Given the description of an element on the screen output the (x, y) to click on. 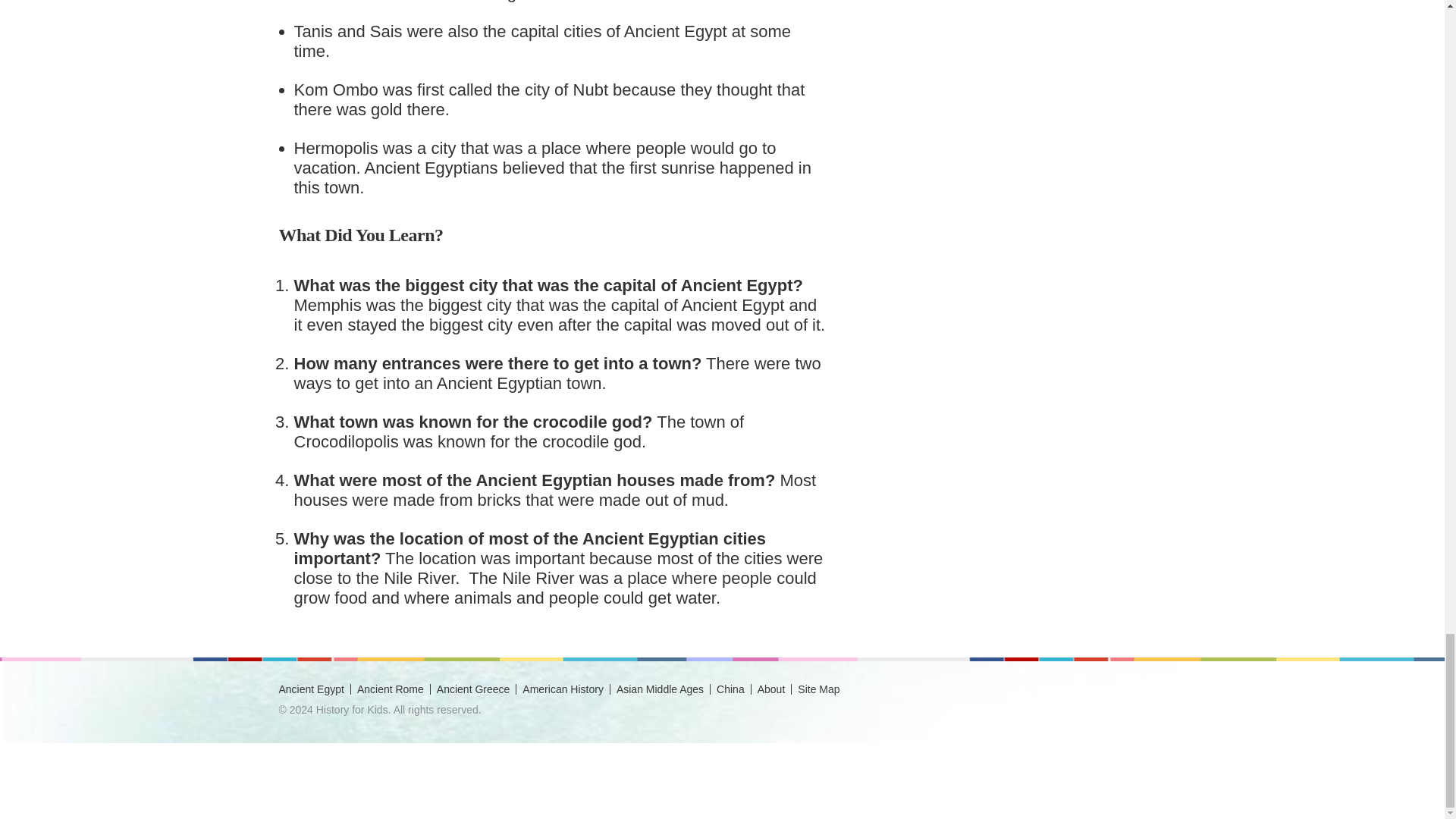
Asian Middle Ages (659, 689)
Ancient Rome (389, 689)
Site Map (818, 689)
Ancient Greece (473, 689)
Ancient Egypt (311, 689)
China (730, 689)
About (771, 689)
American History (563, 689)
